Given the description of an element on the screen output the (x, y) to click on. 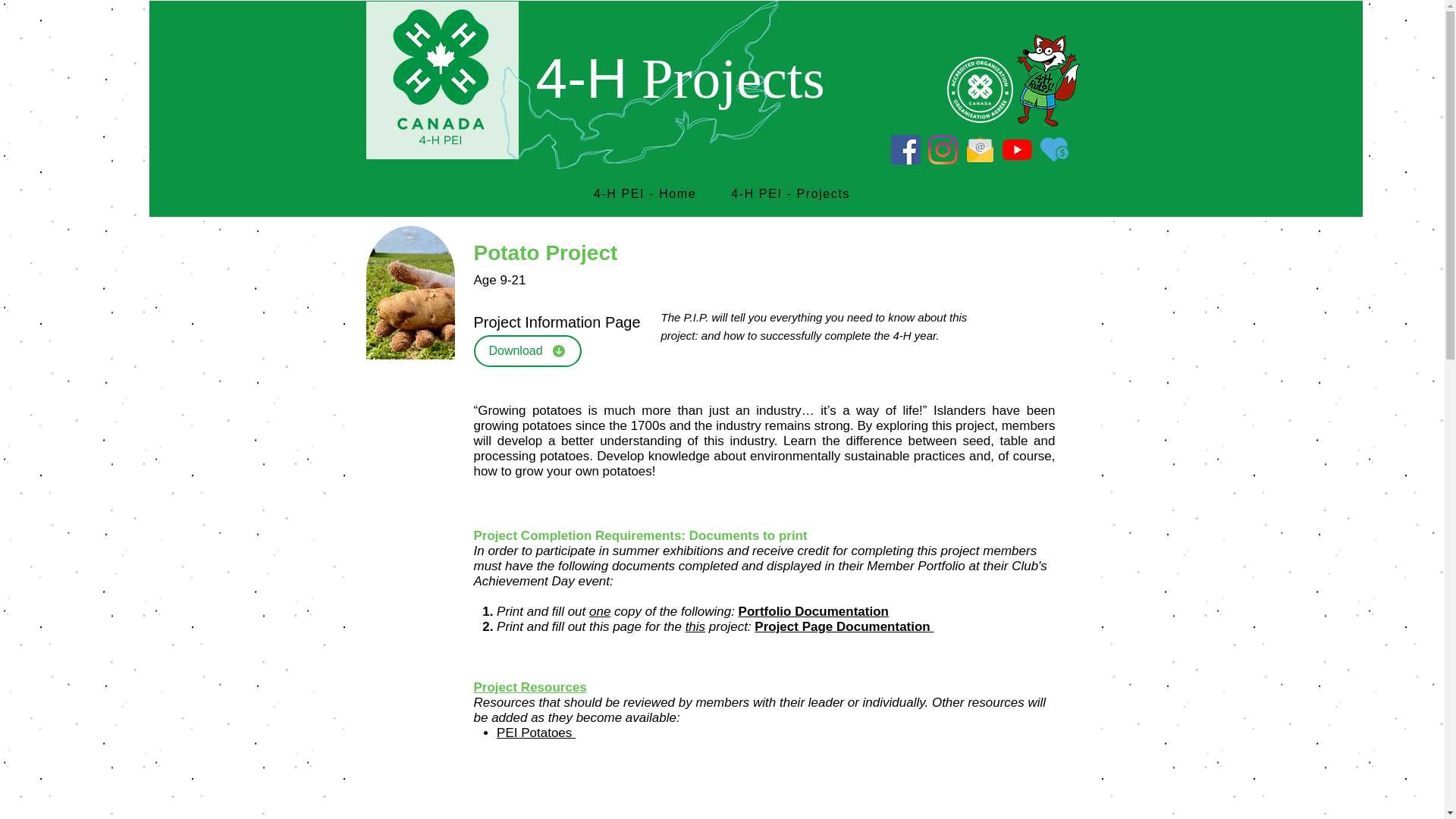
4-H PEI - Projects (790, 194)
Download (526, 350)
4-H PEI - Home (644, 194)
PEI Potatoes  (535, 732)
Portfolio Documentation (813, 611)
Project Page Documentation  (843, 626)
